Given the description of an element on the screen output the (x, y) to click on. 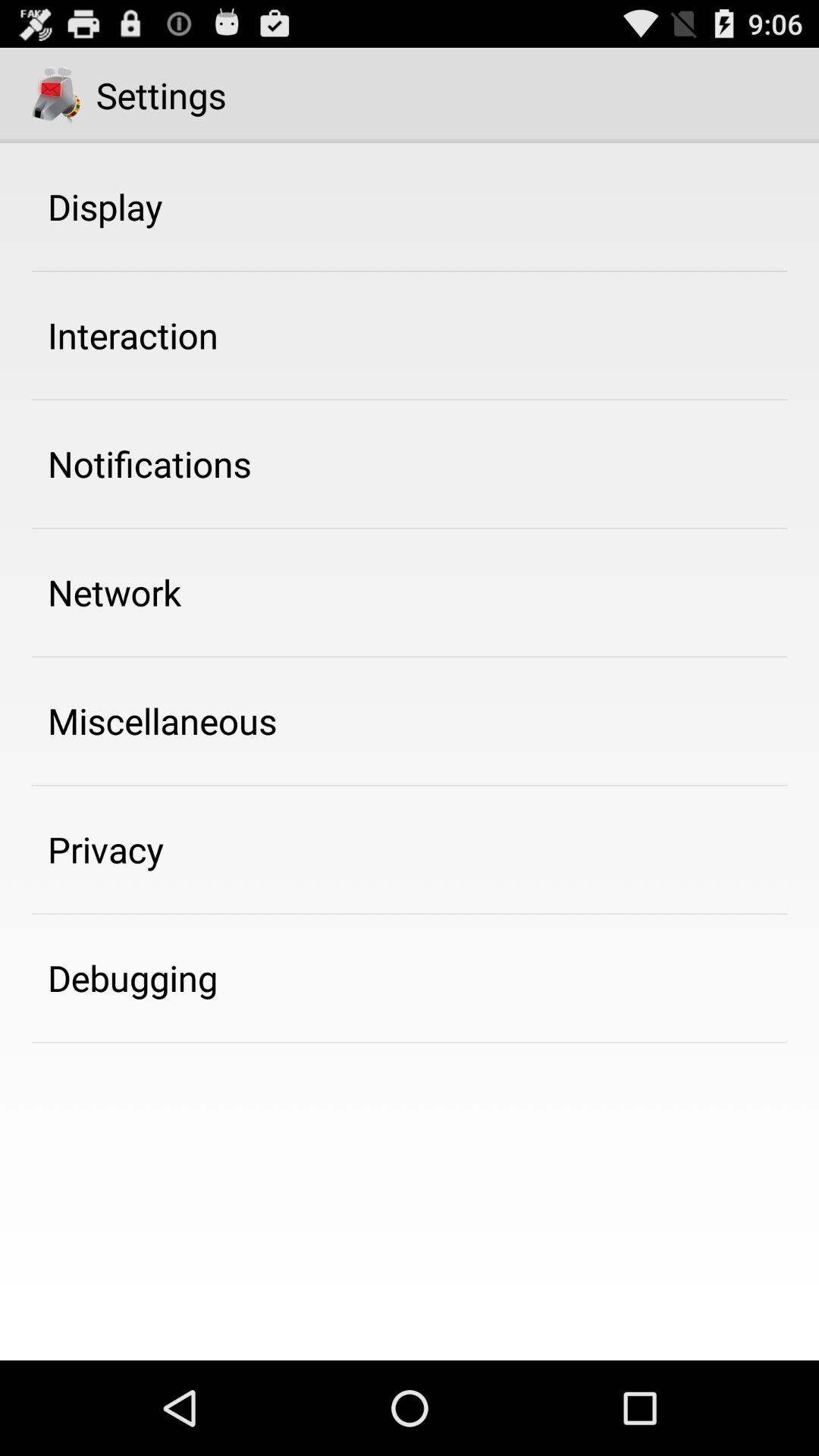
launch the icon above the network item (149, 463)
